Given the description of an element on the screen output the (x, y) to click on. 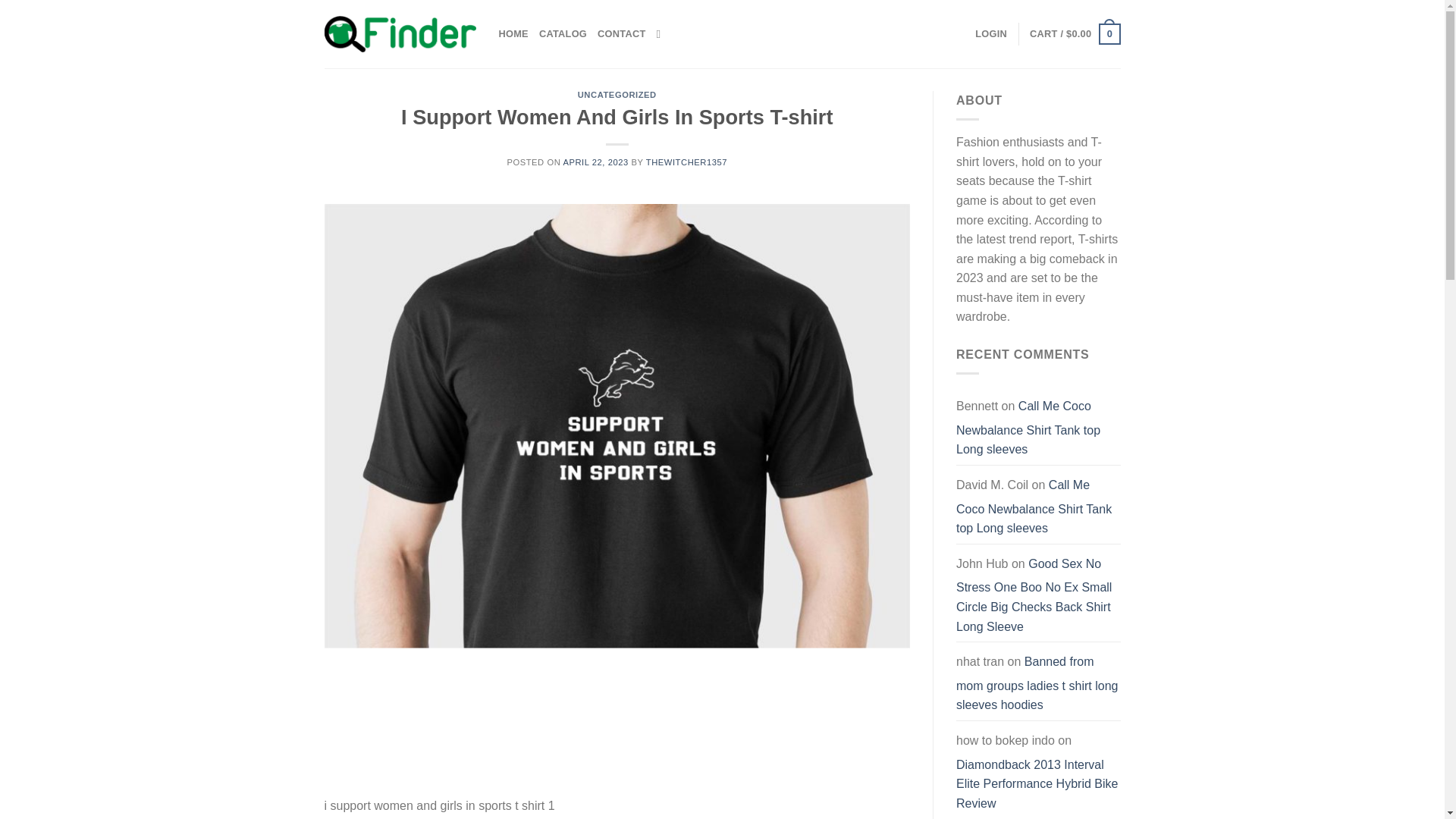
CATALOG (562, 33)
Cart (1074, 34)
LOGIN (991, 33)
Banned from mom groups ladies t shirt long sleeves hoodies (1037, 682)
Call Me Coco Newbalance Shirt Tank top Long sleeves (1034, 506)
Call Me Coco Newbalance Shirt Tank top Long sleeves (1028, 427)
HOME (513, 33)
